Given the description of an element on the screen output the (x, y) to click on. 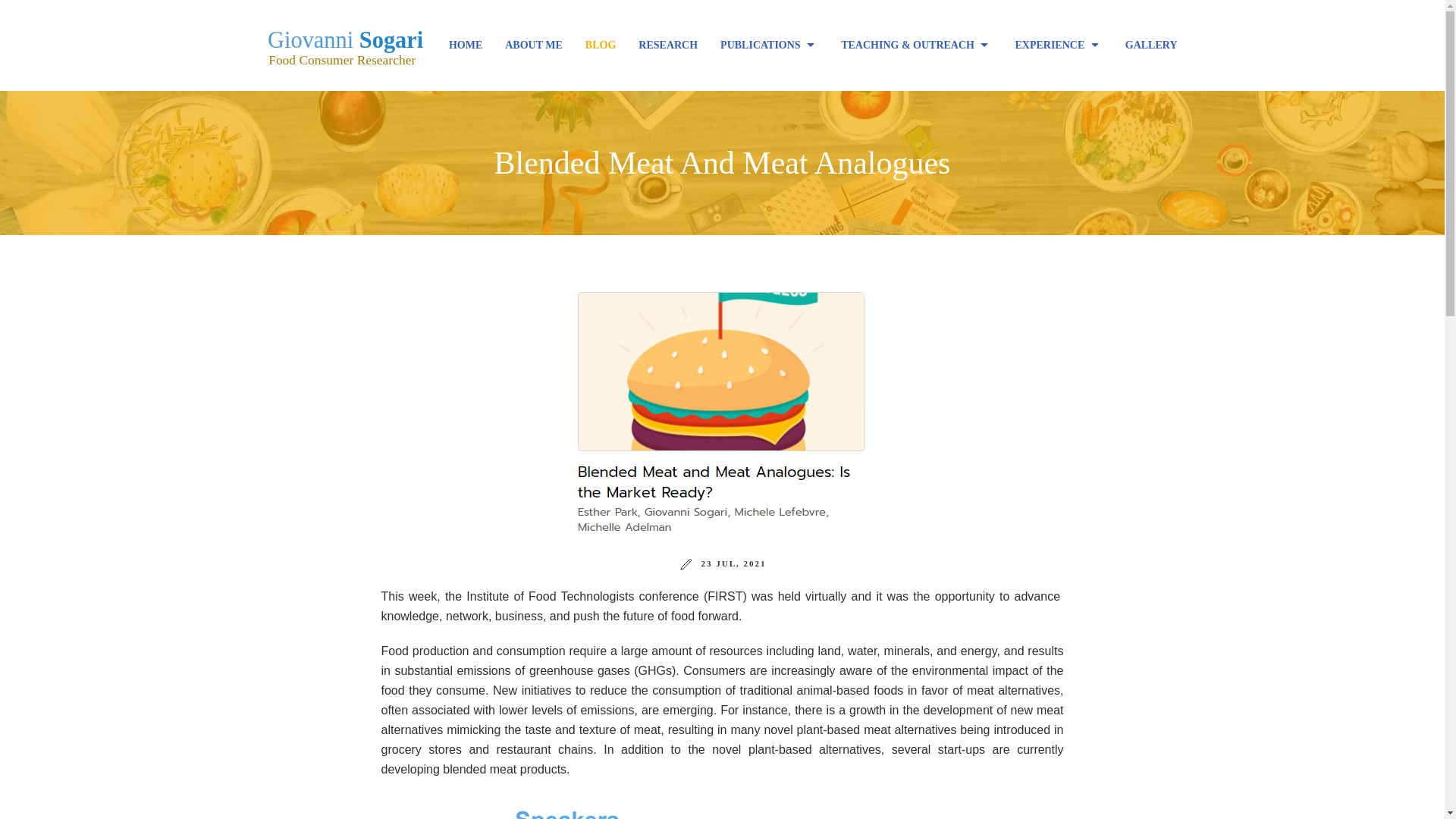
HOME (465, 45)
PUBLICATIONS (769, 45)
ABOUT ME (533, 45)
EXPERIENCE (1058, 45)
RESEARCH (668, 45)
GALLERY (1151, 45)
